Given the description of an element on the screen output the (x, y) to click on. 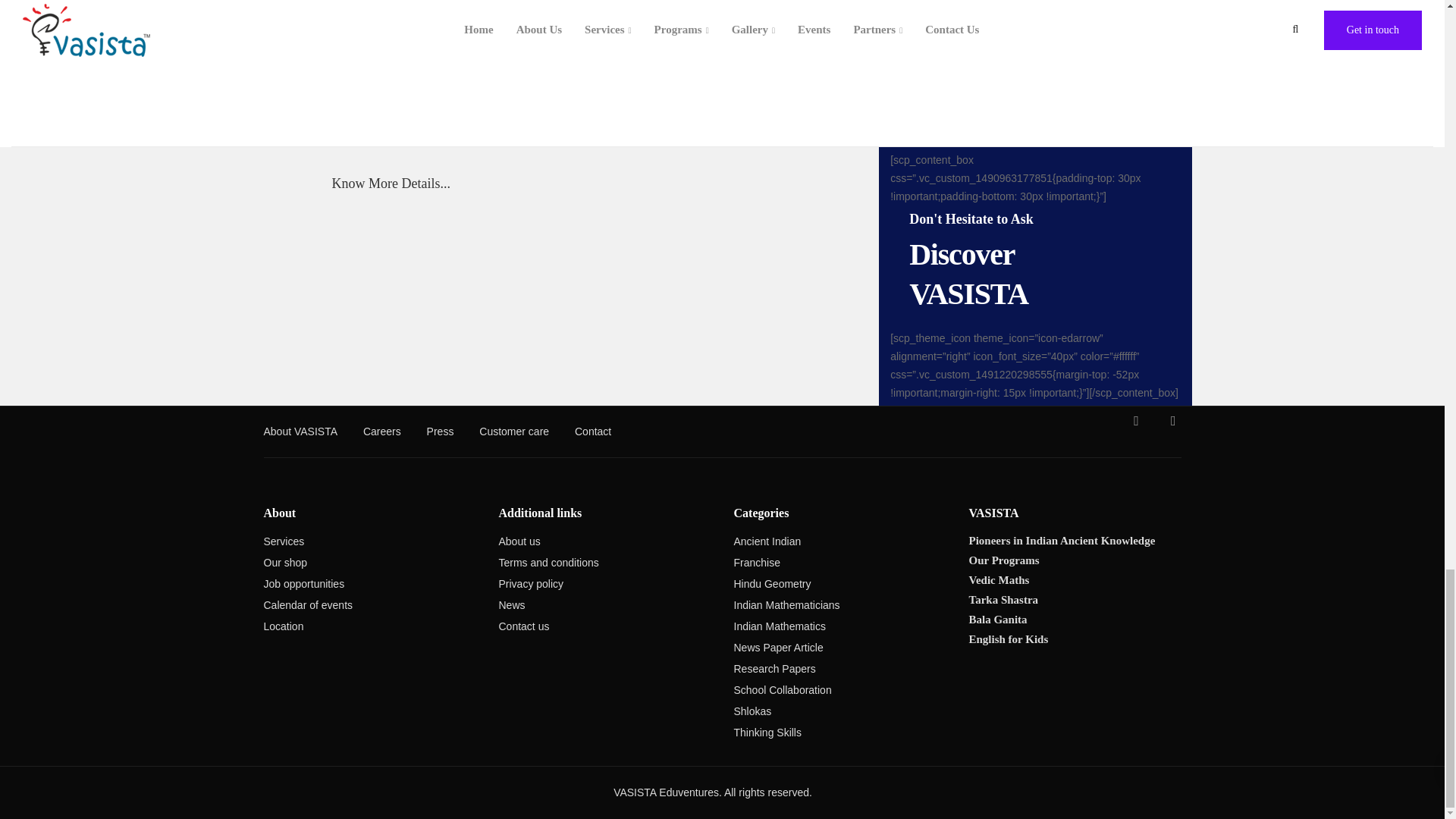
Customer care (513, 433)
Don't Hesitate to Ask (970, 218)
Press (440, 433)
Discover VASISTA (967, 274)
Careers (381, 433)
Contact (593, 433)
About VASISTA (300, 433)
